Given the description of an element on the screen output the (x, y) to click on. 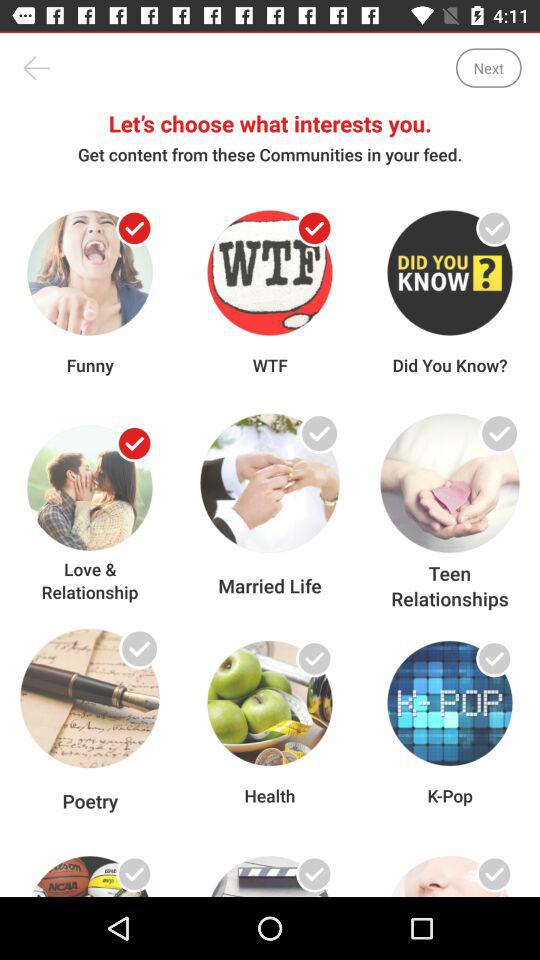
select category (494, 443)
